Given the description of an element on the screen output the (x, y) to click on. 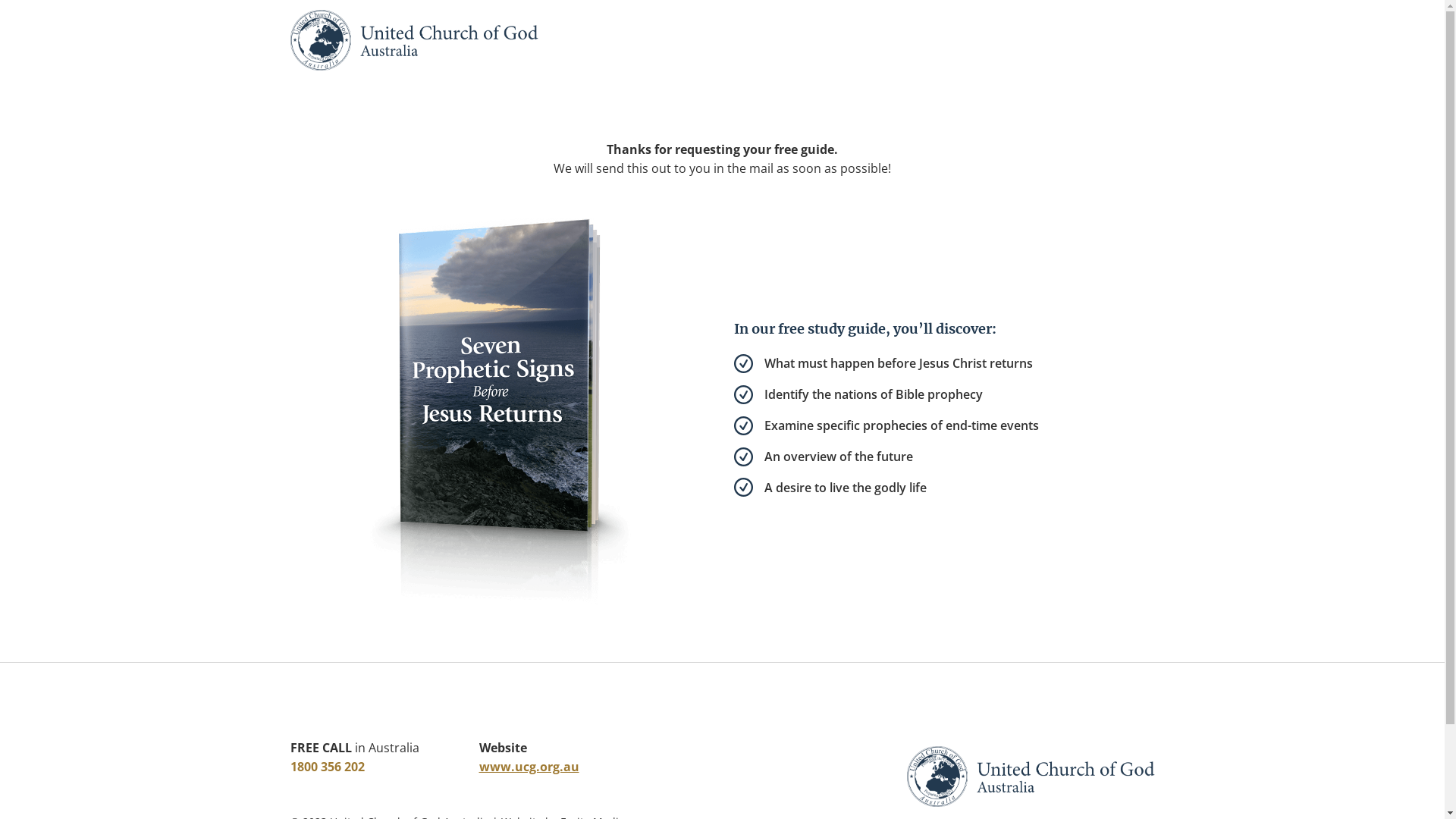
1800 356 202 Element type: text (326, 766)
www.ucg.org.au Element type: text (529, 766)
